Given the description of an element on the screen output the (x, y) to click on. 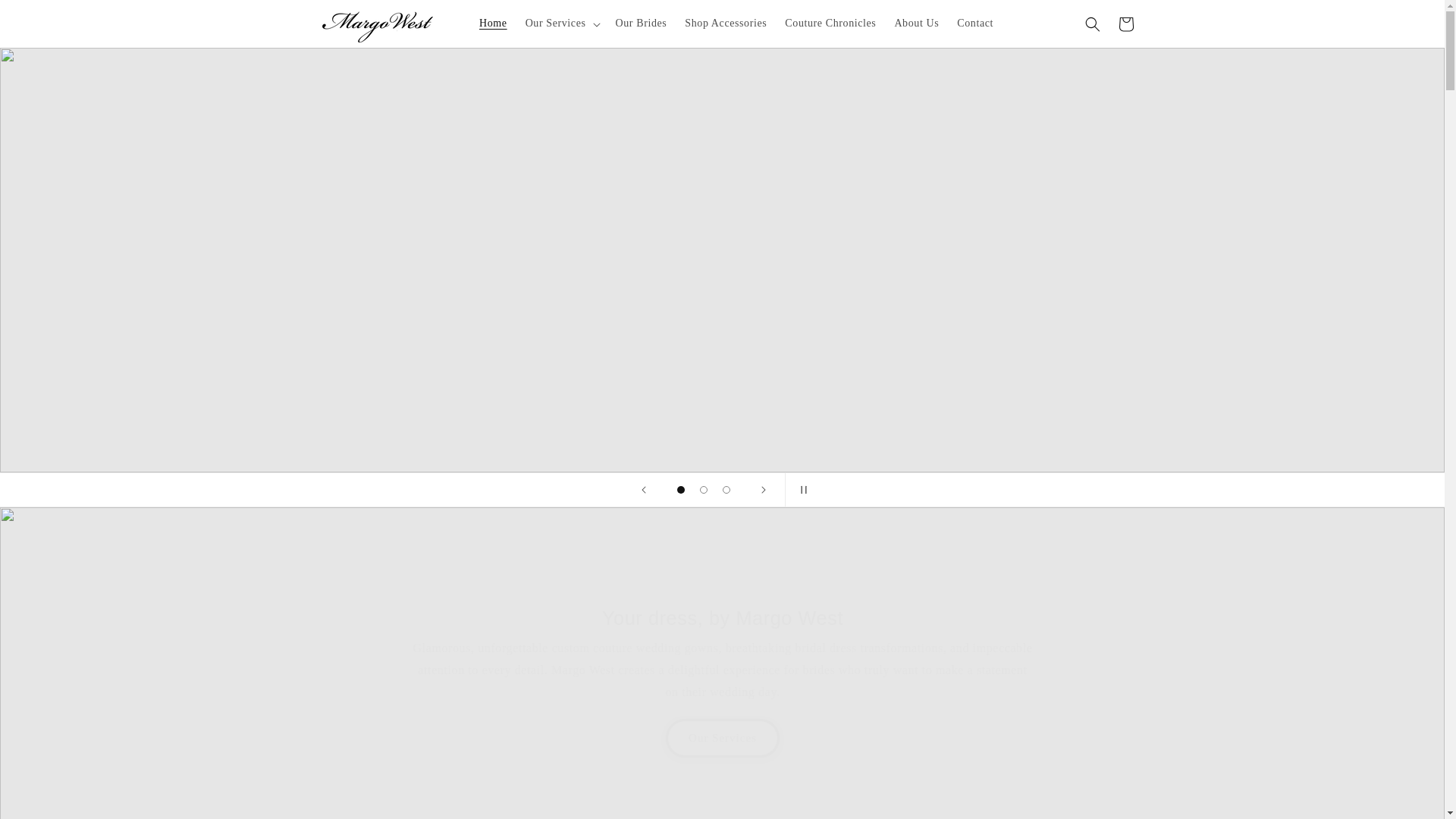
About Us (916, 23)
Home (493, 23)
Shop Accessories (725, 23)
Contact (975, 23)
Cart (1124, 23)
Skip to content (47, 18)
Couture Chronicles (830, 23)
Our Brides (642, 23)
